Given the description of an element on the screen output the (x, y) to click on. 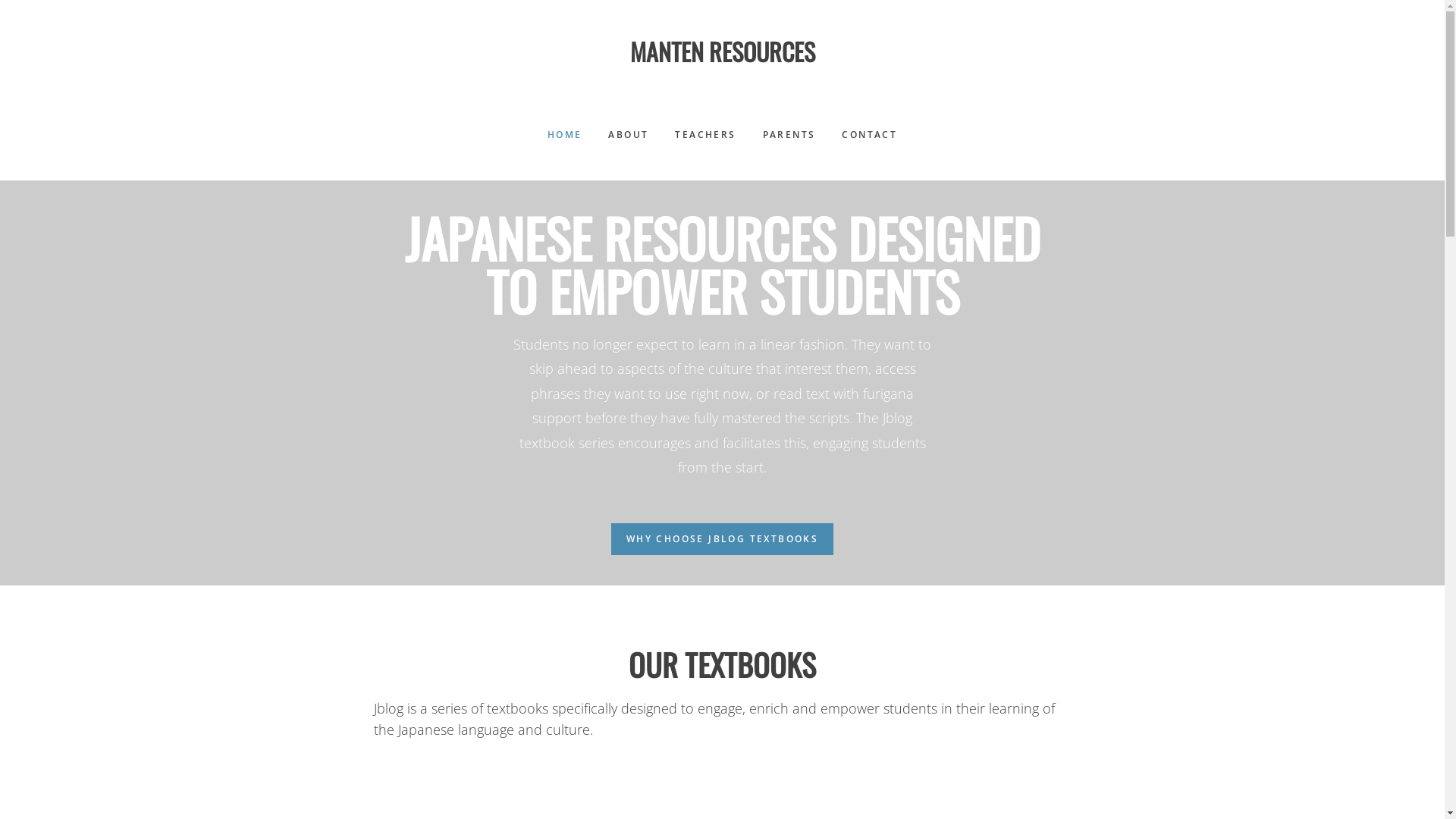
TEACHERS Element type: text (704, 134)
MANTEN RESOURCES Element type: text (721, 51)
ABOUT Element type: text (627, 134)
HOME Element type: text (564, 134)
CONTACT Element type: text (869, 134)
Skip to main content Element type: text (0, 6)
WHY CHOOSE JBLOG TEXTBOOKS Element type: text (722, 539)
PARENTS Element type: text (789, 134)
